Given the description of an element on the screen output the (x, y) to click on. 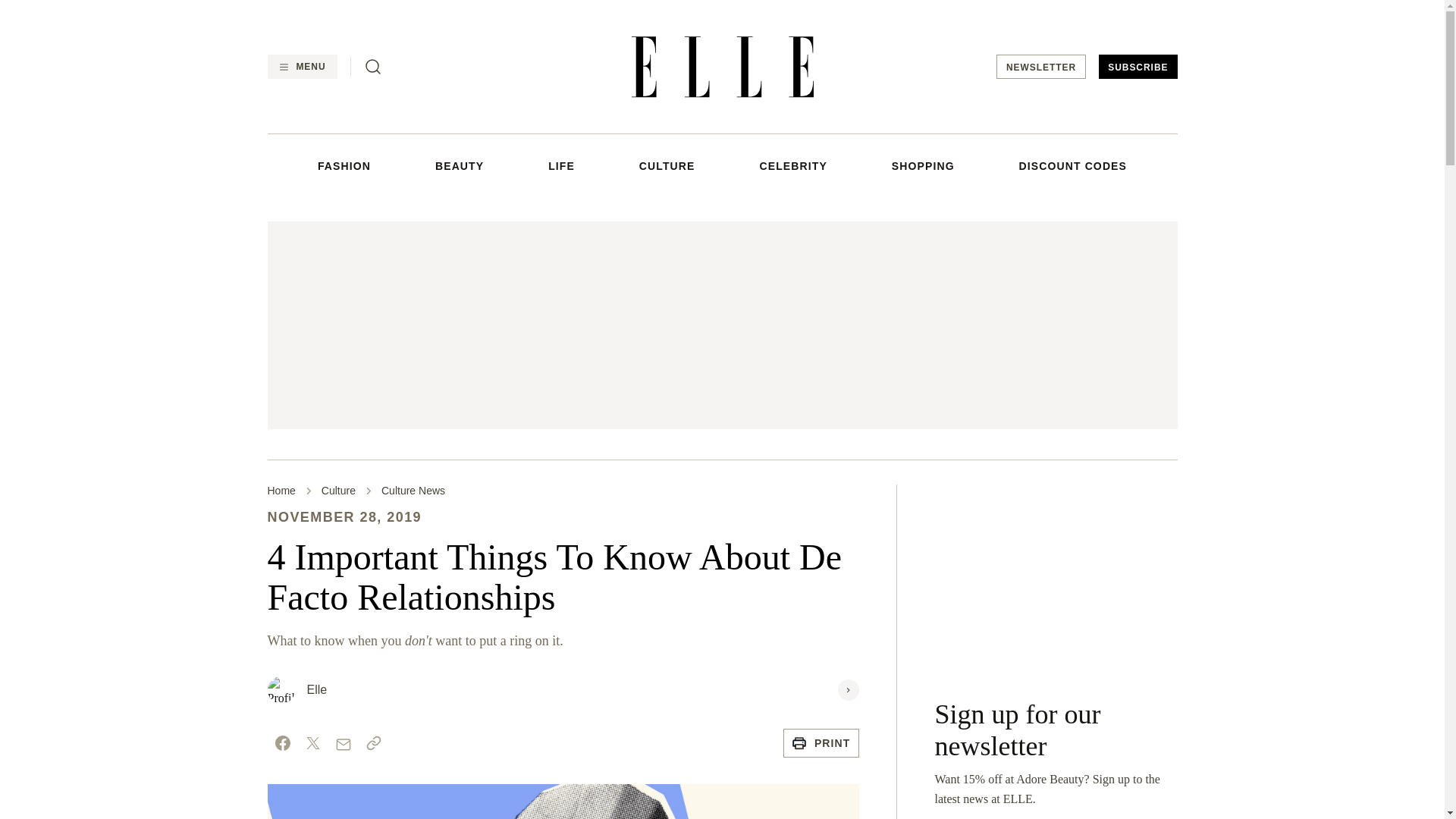
DISCOUNT CODES (1072, 165)
FASHION (344, 165)
SUBSCRIBE (1137, 66)
BEAUTY (459, 165)
CULTURE (667, 165)
SHOPPING (923, 165)
CELEBRITY (792, 165)
LIFE (561, 165)
NEWSLETTER (1040, 66)
MENU (301, 66)
